Given the description of an element on the screen output the (x, y) to click on. 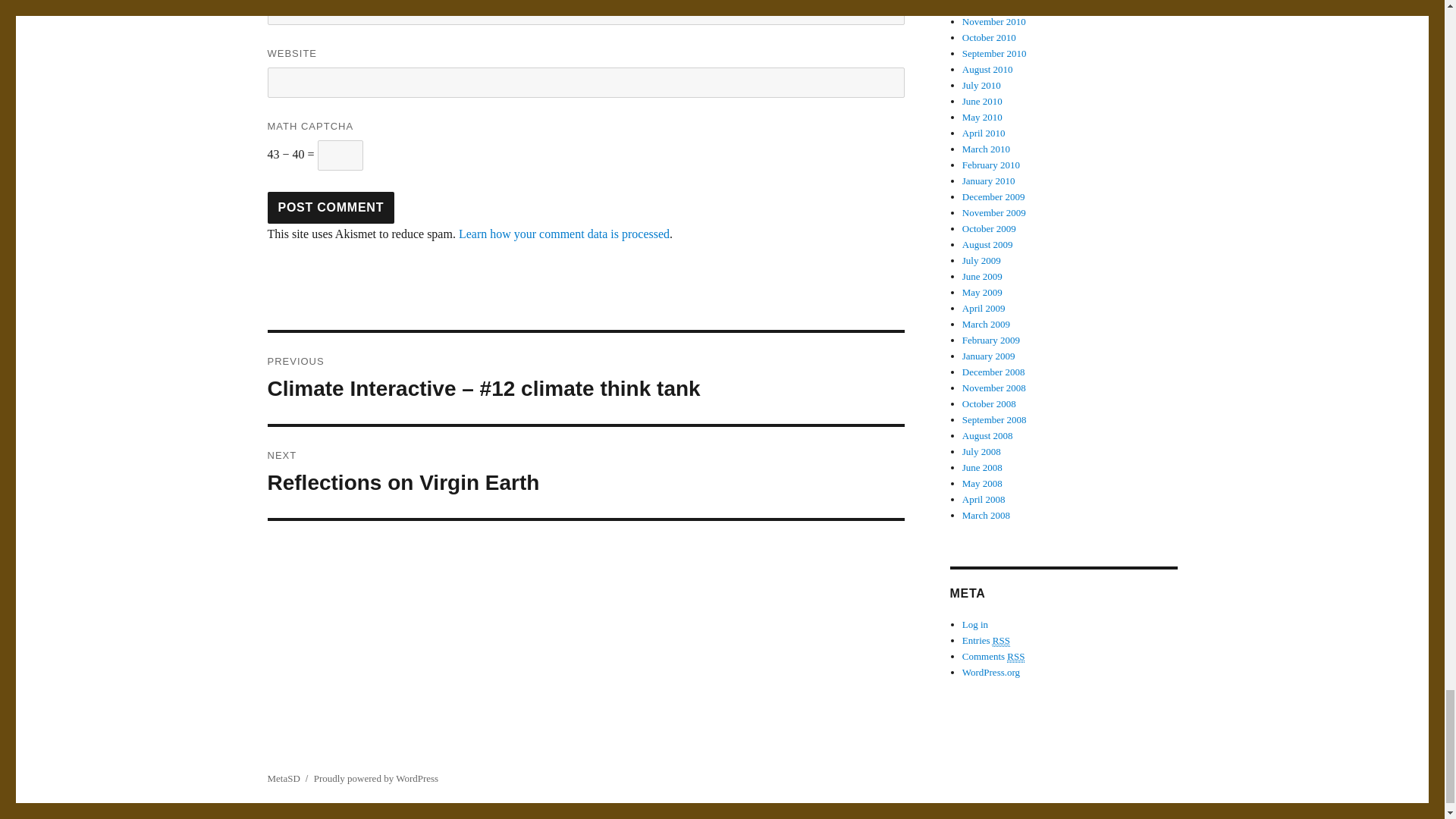
Really Simple Syndication (585, 471)
Really Simple Syndication (1001, 640)
Post Comment (1016, 656)
Post Comment (330, 207)
Learn how your comment data is processed (330, 207)
